Given the description of an element on the screen output the (x, y) to click on. 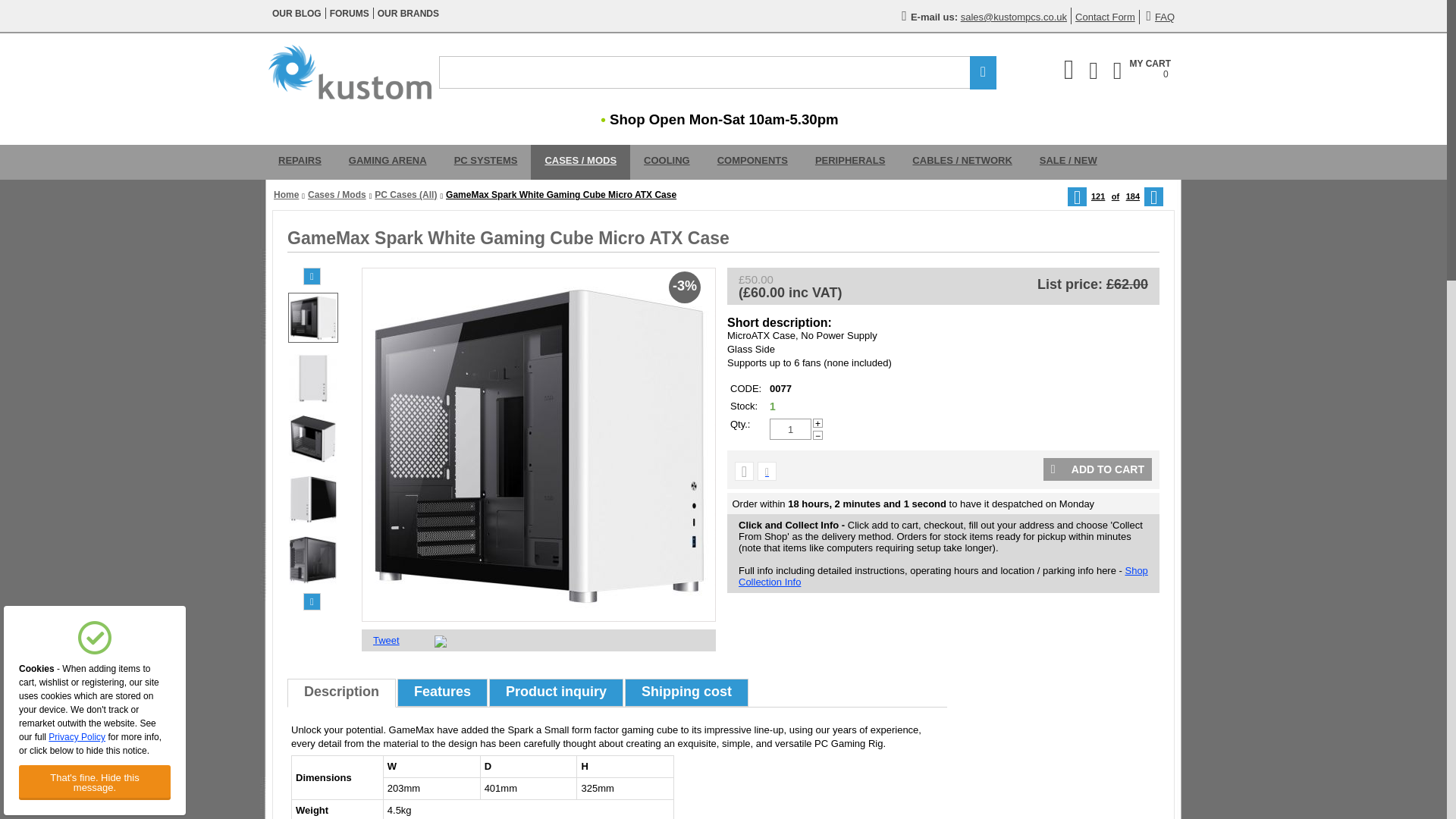
GAMING ARENA (387, 161)
Search products (717, 72)
REPAIRS (1141, 70)
Contact Form (299, 161)
FAQ (1105, 16)
OUR BLOG (1159, 16)
1 (296, 13)
OUR BRANDS (790, 428)
FORUMS (408, 13)
